Given the description of an element on the screen output the (x, y) to click on. 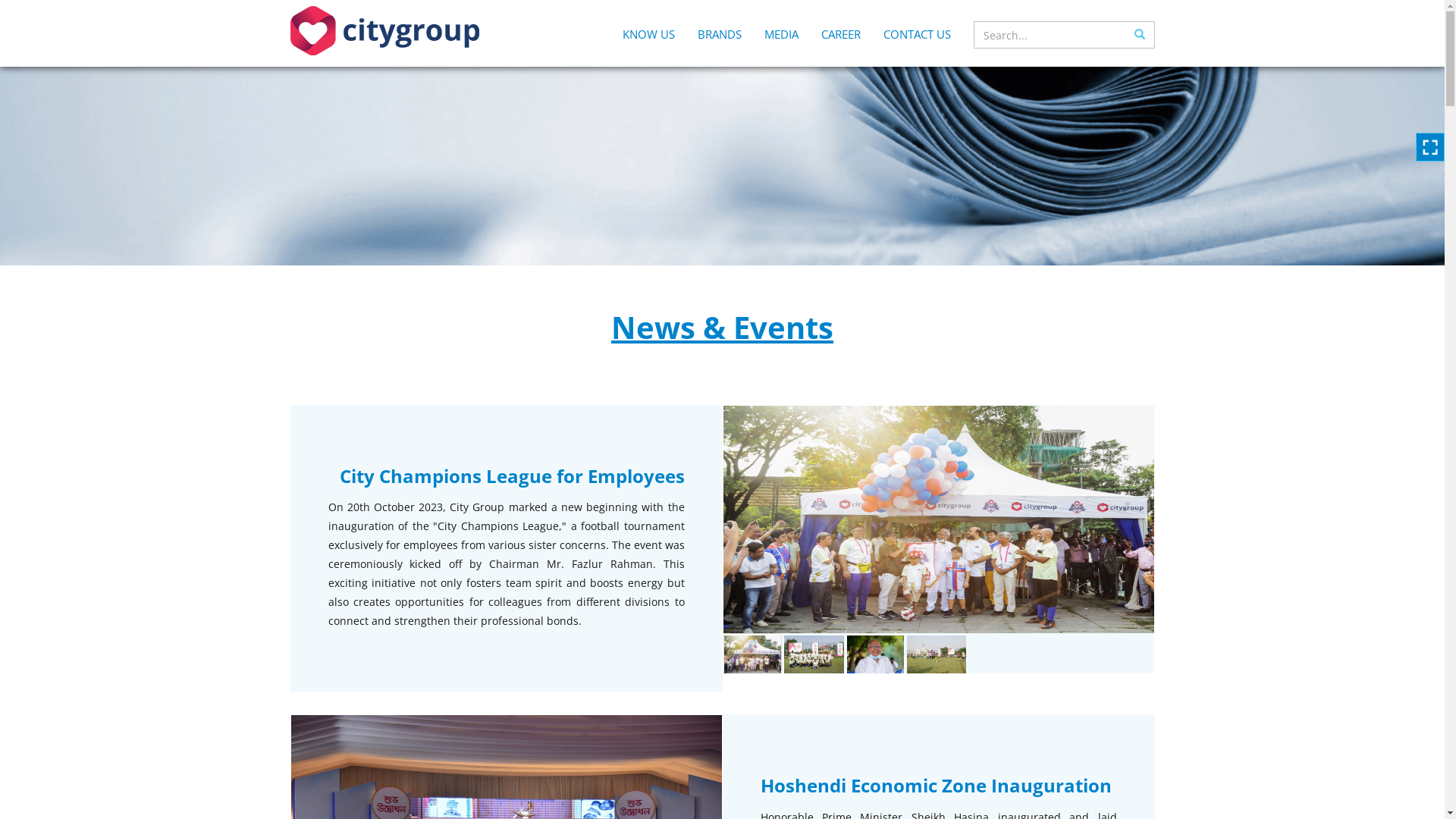
BRANDS Element type: text (718, 42)
KNOW US Element type: text (648, 42)
MEDIA Element type: text (780, 42)
CAREER Element type: text (840, 42)
CONTACT US Element type: text (917, 42)
